Given the description of an element on the screen output the (x, y) to click on. 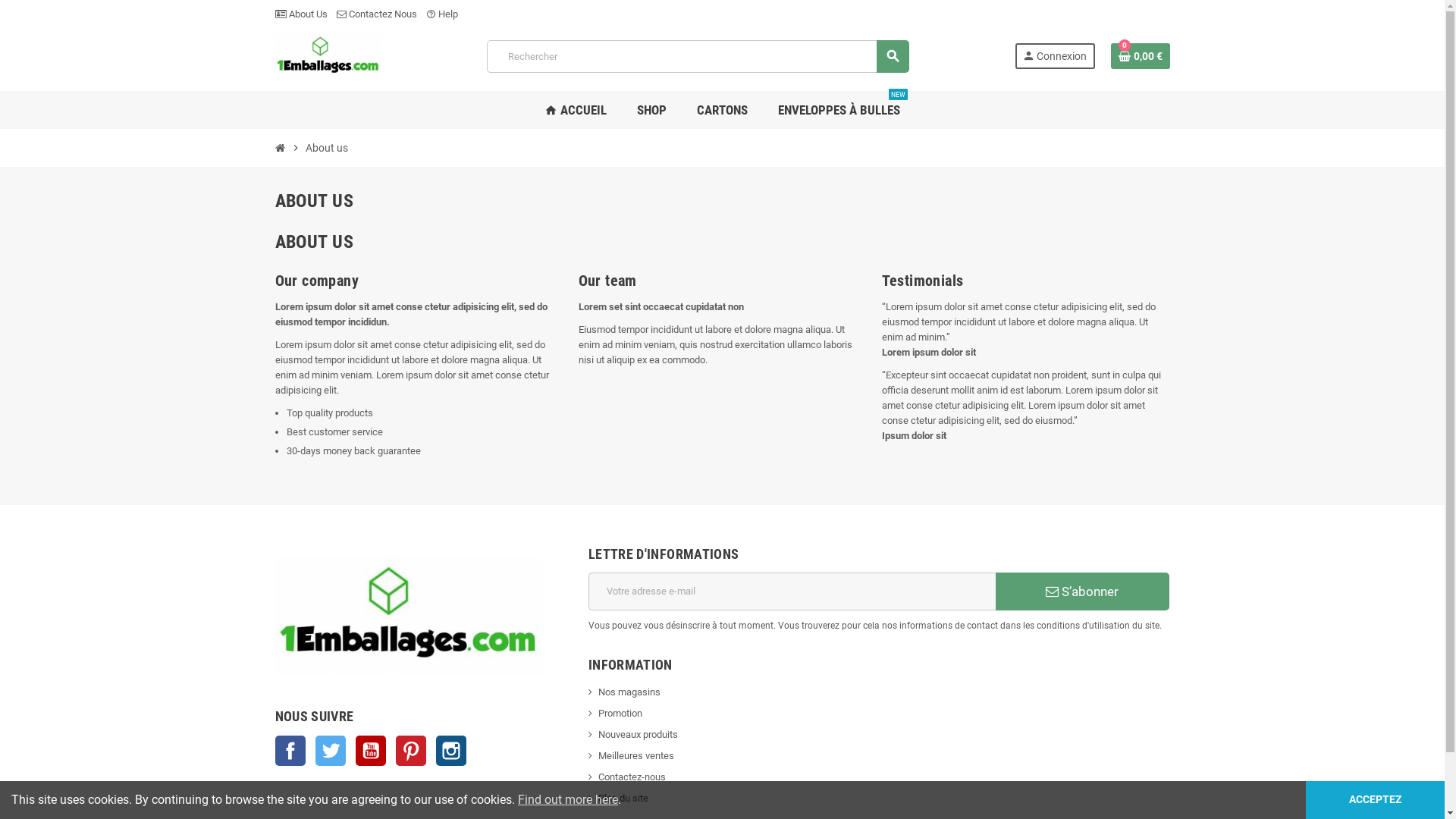
person
Connexion Element type: text (1054, 55)
SHOP Element type: text (651, 109)
Promotion Element type: text (615, 712)
YouTube Element type: text (369, 750)
Contactez Nous Element type: text (376, 13)
Pinterest Element type: text (410, 750)
Plan du site Element type: text (618, 797)
Facebook Element type: text (289, 750)
Find out more here Element type: text (567, 799)
Nouveaux produits Element type: text (632, 734)
Nos magasins Element type: text (624, 691)
search Element type: text (892, 56)
Contactez-nous Element type: text (626, 776)
About Us Element type: text (300, 13)
Twitter Element type: text (330, 750)
CARTONS Element type: text (722, 109)
1Emballages.com Element type: hover (327, 55)
Instagram Element type: text (450, 750)
Meilleures ventes Element type: text (631, 755)
home ACCUEIL Element type: text (575, 109)
help_outline Help Element type: text (442, 13)
